Given the description of an element on the screen output the (x, y) to click on. 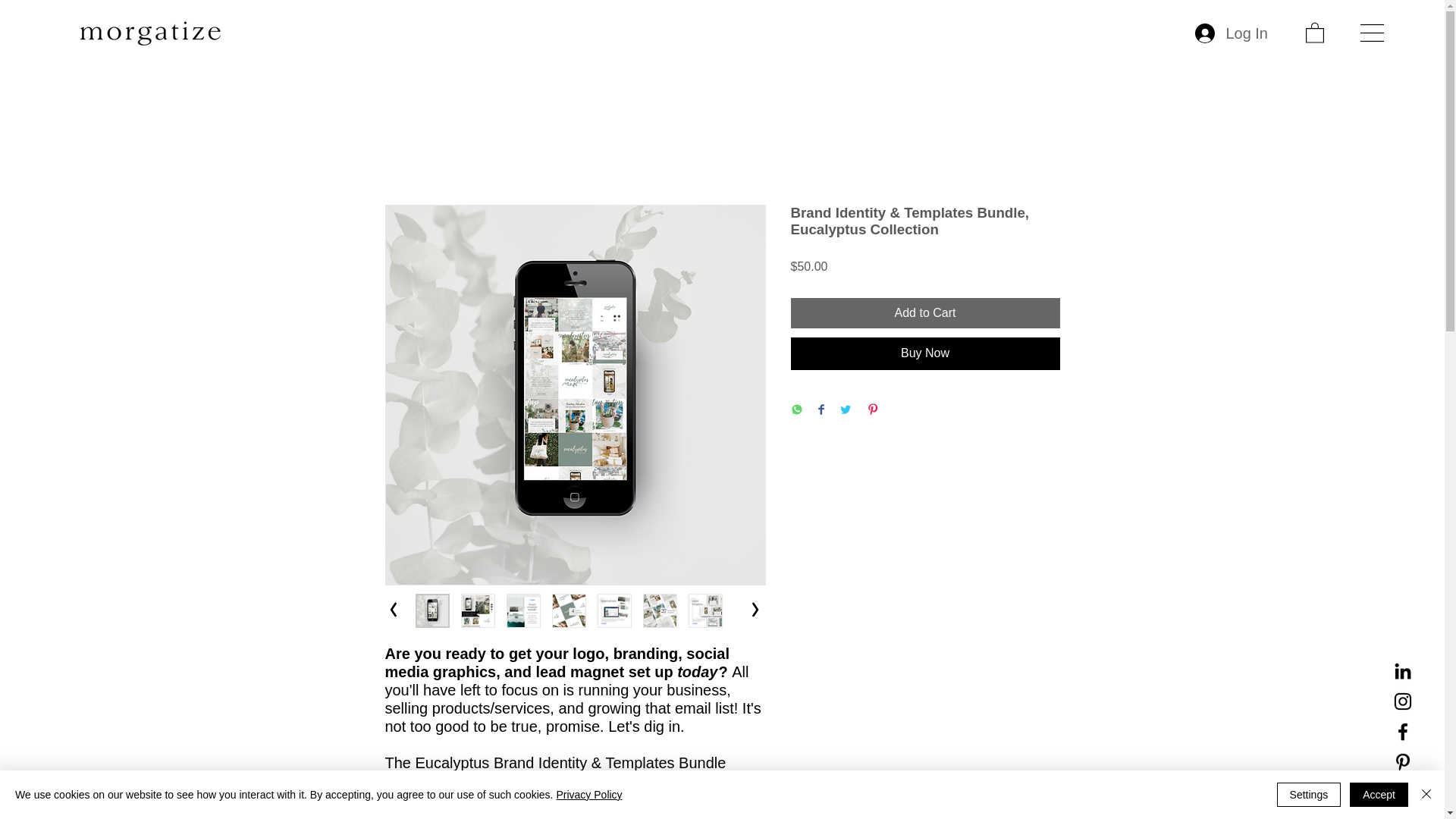
Add to Cart (924, 313)
Log In (1231, 33)
Buy Now (924, 353)
